Given the description of an element on the screen output the (x, y) to click on. 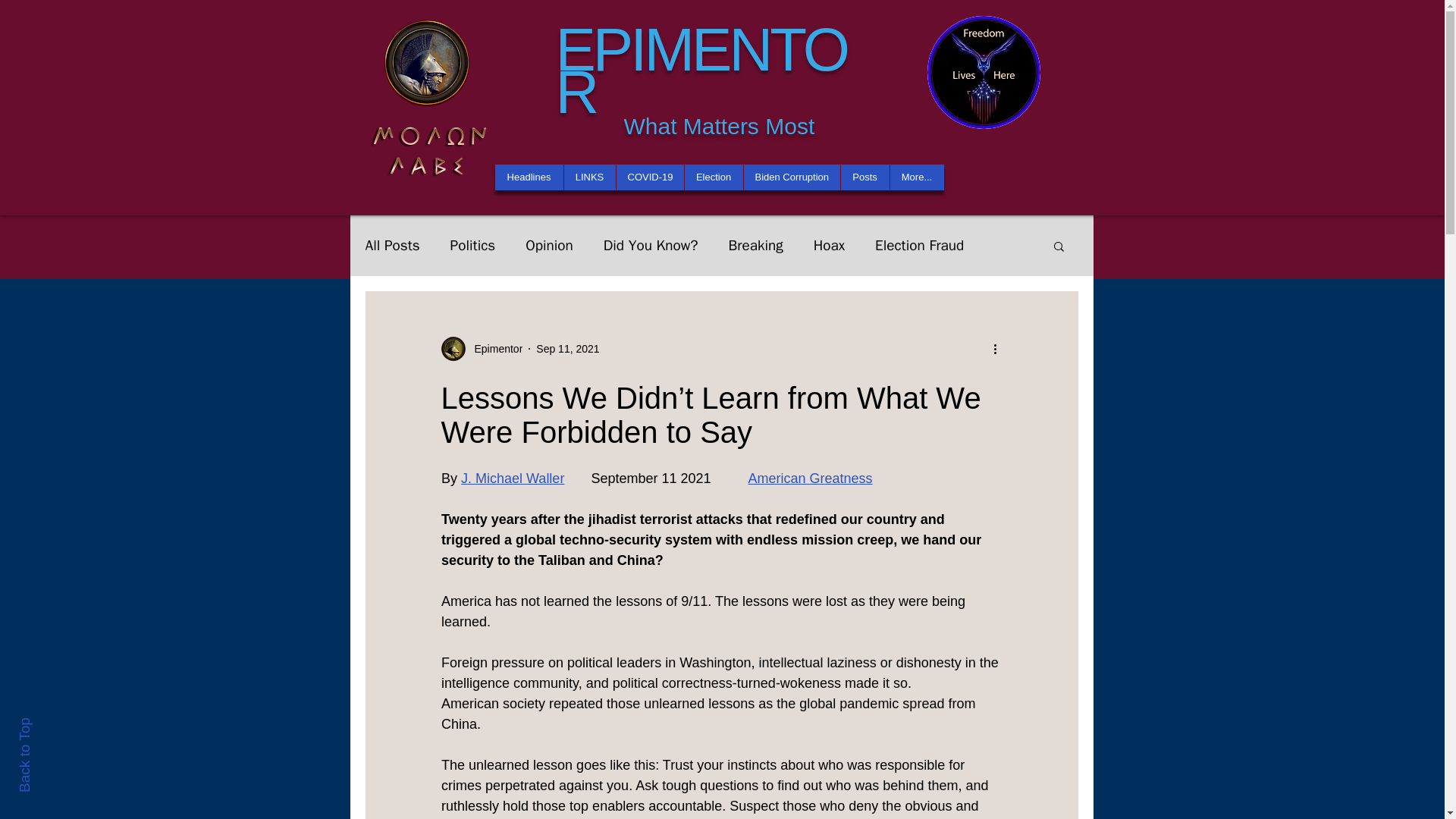
Posts (864, 177)
Epimentor (493, 349)
LINKS (588, 177)
Sep 11, 2021 (566, 348)
Election (713, 177)
COVID-19 (649, 177)
EPIMENTOR (699, 70)
Biden Corruption (791, 177)
Headlines (528, 177)
